Given the description of an element on the screen output the (x, y) to click on. 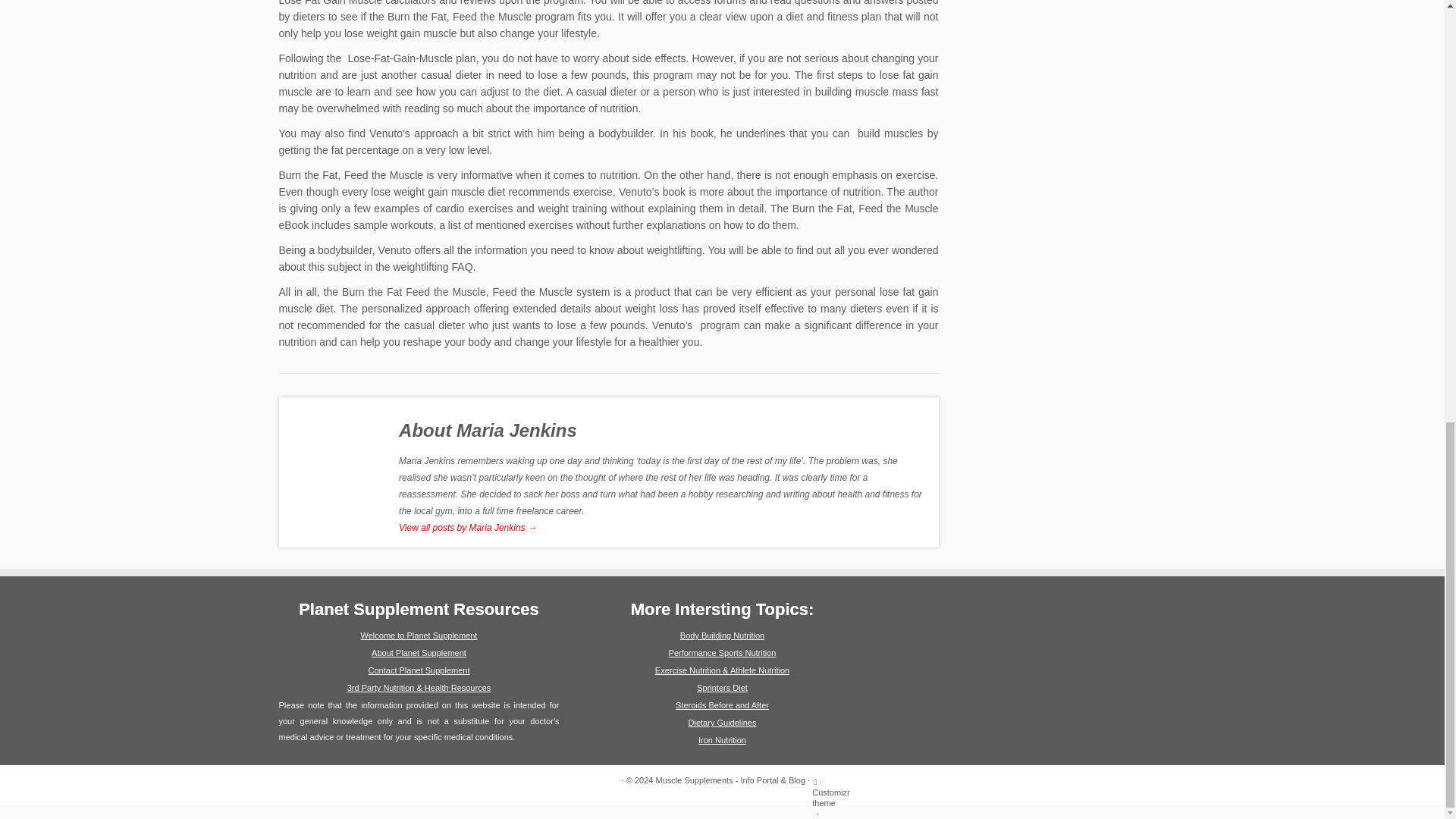
Welcome to Planet Supplement (419, 634)
Contact Planet Supplement (419, 669)
Performance Sports Nutrition (722, 652)
Iron Nutrition (721, 739)
Dietary Guidelines (722, 722)
About Planet Supplement (418, 652)
Steroids Before and After (721, 705)
Customizr theme (831, 797)
Body Building Nutrition (721, 634)
Sprinters Diet (722, 687)
